Given the description of an element on the screen output the (x, y) to click on. 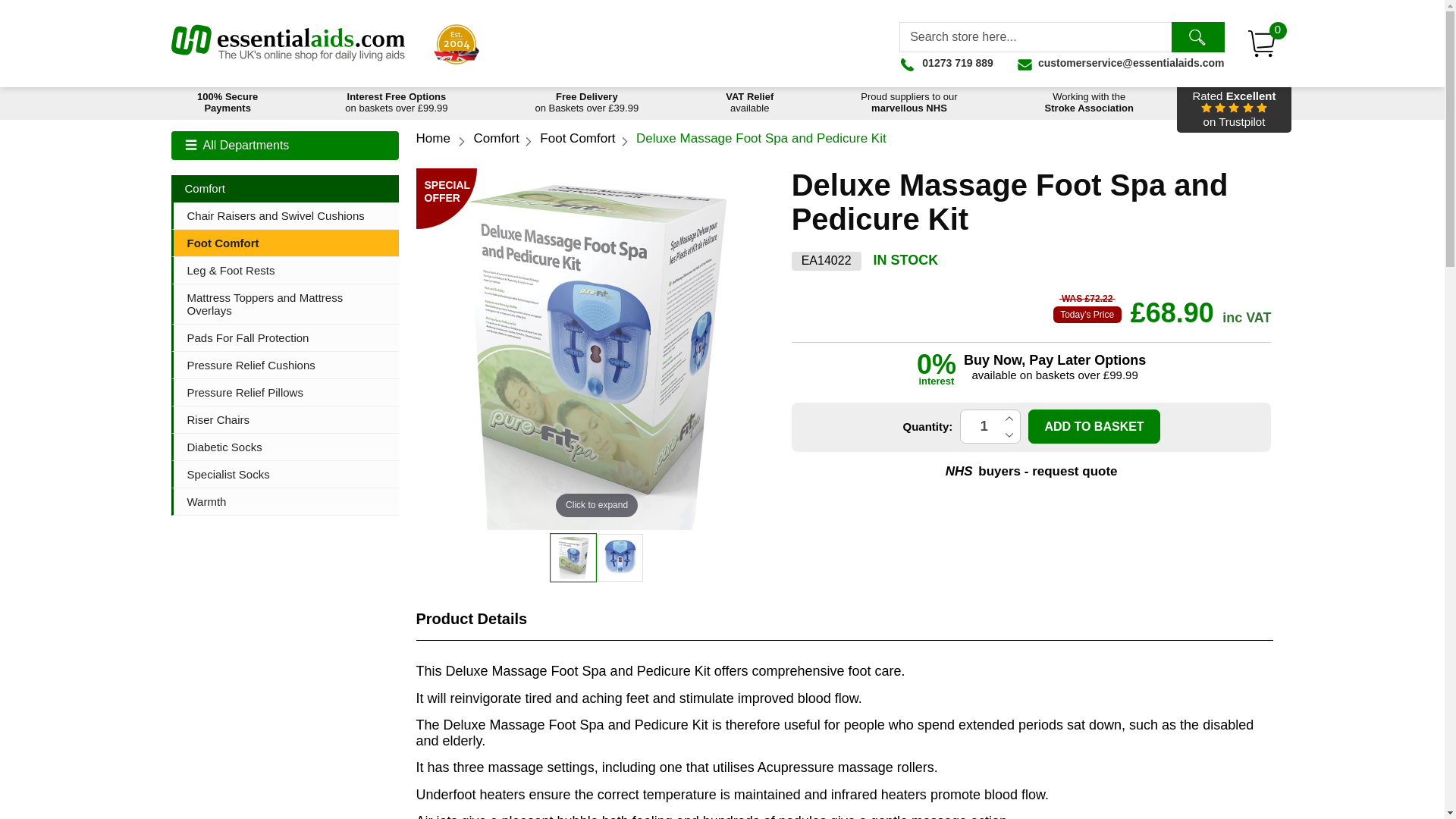
01273 719 889 (945, 62)
Your Basket (1262, 43)
4.8 out of 5 (1233, 109)
Deluxe Massage Foot Spa and Pedicure Kit (1089, 102)
Go to Home Page (572, 557)
Add to Basket (748, 102)
Deluxe Massage Foot Spa and Pedicure Kit (908, 102)
2004 est (1233, 109)
Search (431, 138)
1 (1092, 426)
Availability (619, 557)
